Given the description of an element on the screen output the (x, y) to click on. 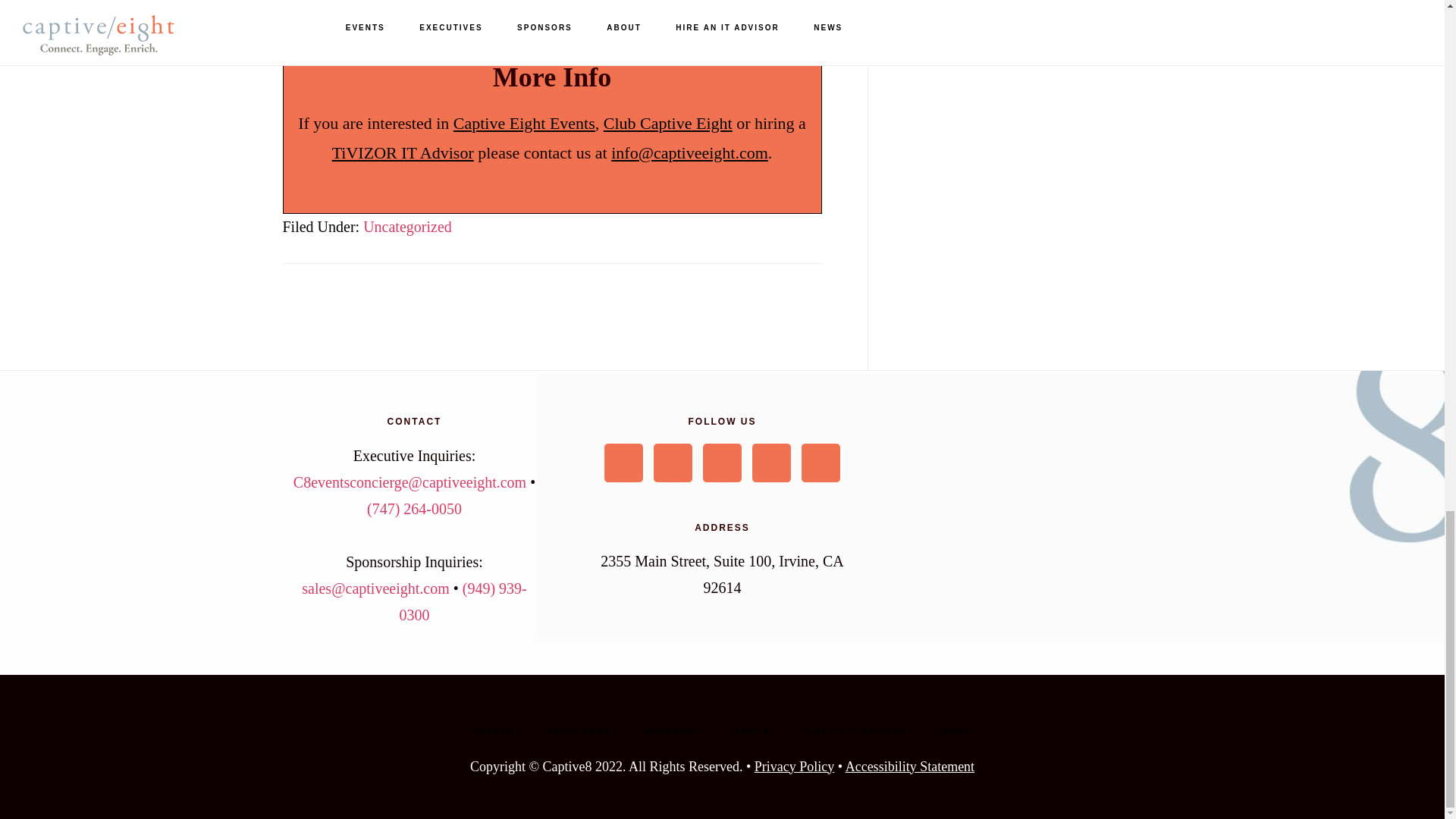
Uncategorized (406, 226)
TiVIZOR IT Advisor (402, 152)
Club Captive Eight (668, 122)
Captive Eight Events (523, 122)
